Given the description of an element on the screen output the (x, y) to click on. 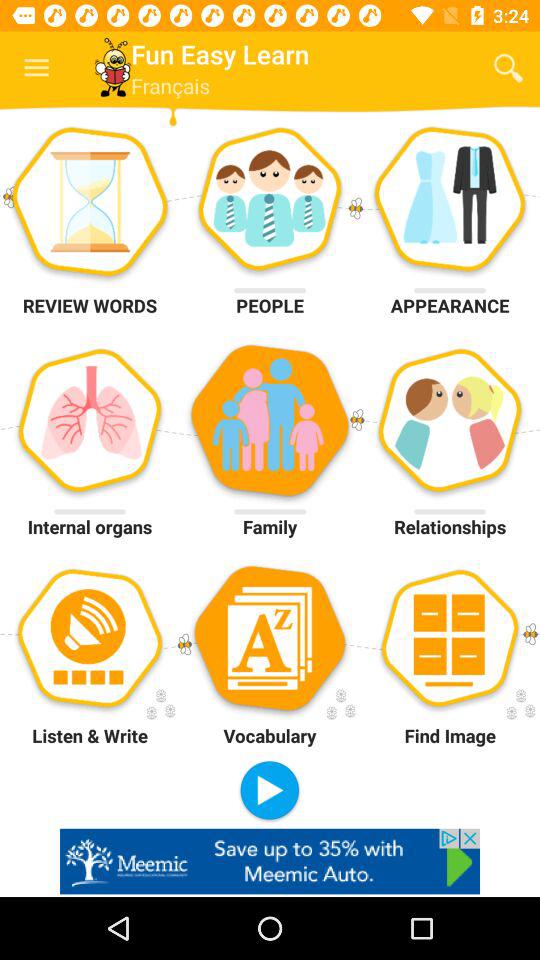
play (269, 791)
